Given the description of an element on the screen output the (x, y) to click on. 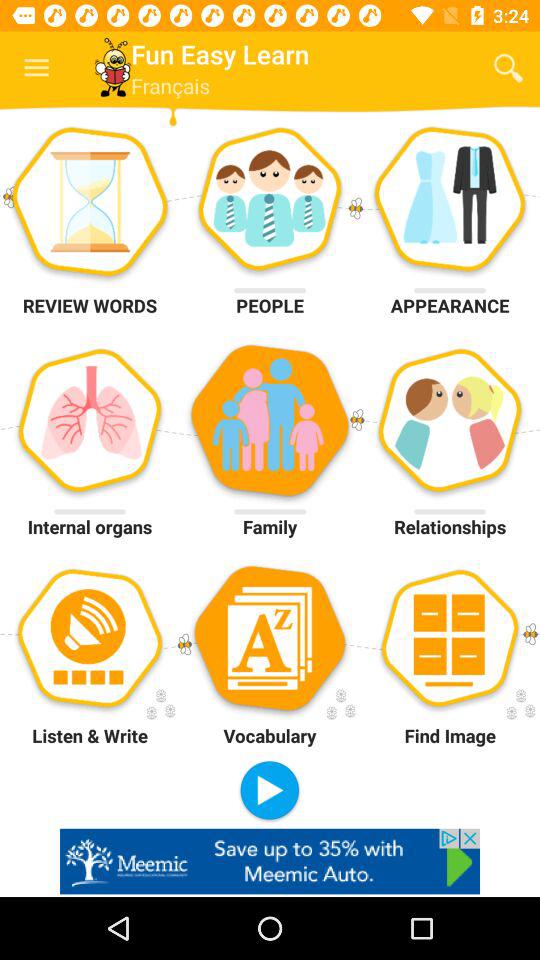
play (269, 791)
